Given the description of an element on the screen output the (x, y) to click on. 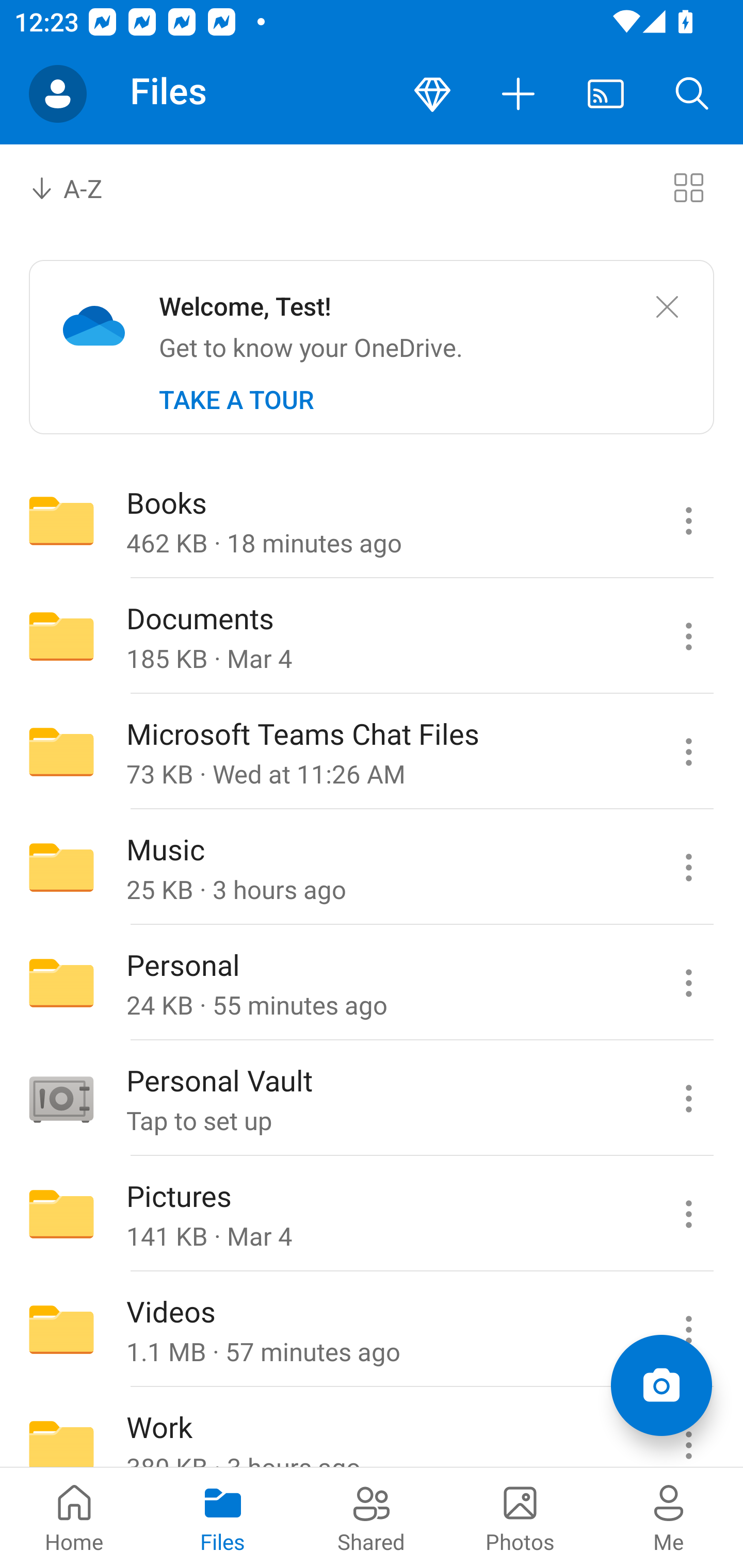
Account switcher (57, 93)
Cast. Disconnected (605, 93)
Premium button (432, 93)
More actions button (518, 93)
Search button (692, 93)
A-Z Sort by combo box, sort by name, A to Z (80, 187)
Switch to tiles view (688, 187)
Close (667, 307)
TAKE A TOUR (236, 399)
Books commands (688, 520)
Folder Documents 185 KB · Mar 4 Documents commands (371, 636)
Documents commands (688, 636)
Microsoft Teams Chat Files commands (688, 751)
Folder Music 25 KB · 3 hours ago Music commands (371, 867)
Music commands (688, 867)
Personal commands (688, 983)
Personal Vault commands (688, 1099)
Folder Pictures 141 KB · Mar 4 Pictures commands (371, 1214)
Pictures commands (688, 1214)
Videos commands (688, 1329)
Add items Scan (660, 1385)
Folder Work 380 KB · 3 hours ago Work commands (371, 1427)
Work commands (688, 1427)
Home pivot Home (74, 1517)
Shared pivot Shared (371, 1517)
Photos pivot Photos (519, 1517)
Me pivot Me (668, 1517)
